Given the description of an element on the screen output the (x, y) to click on. 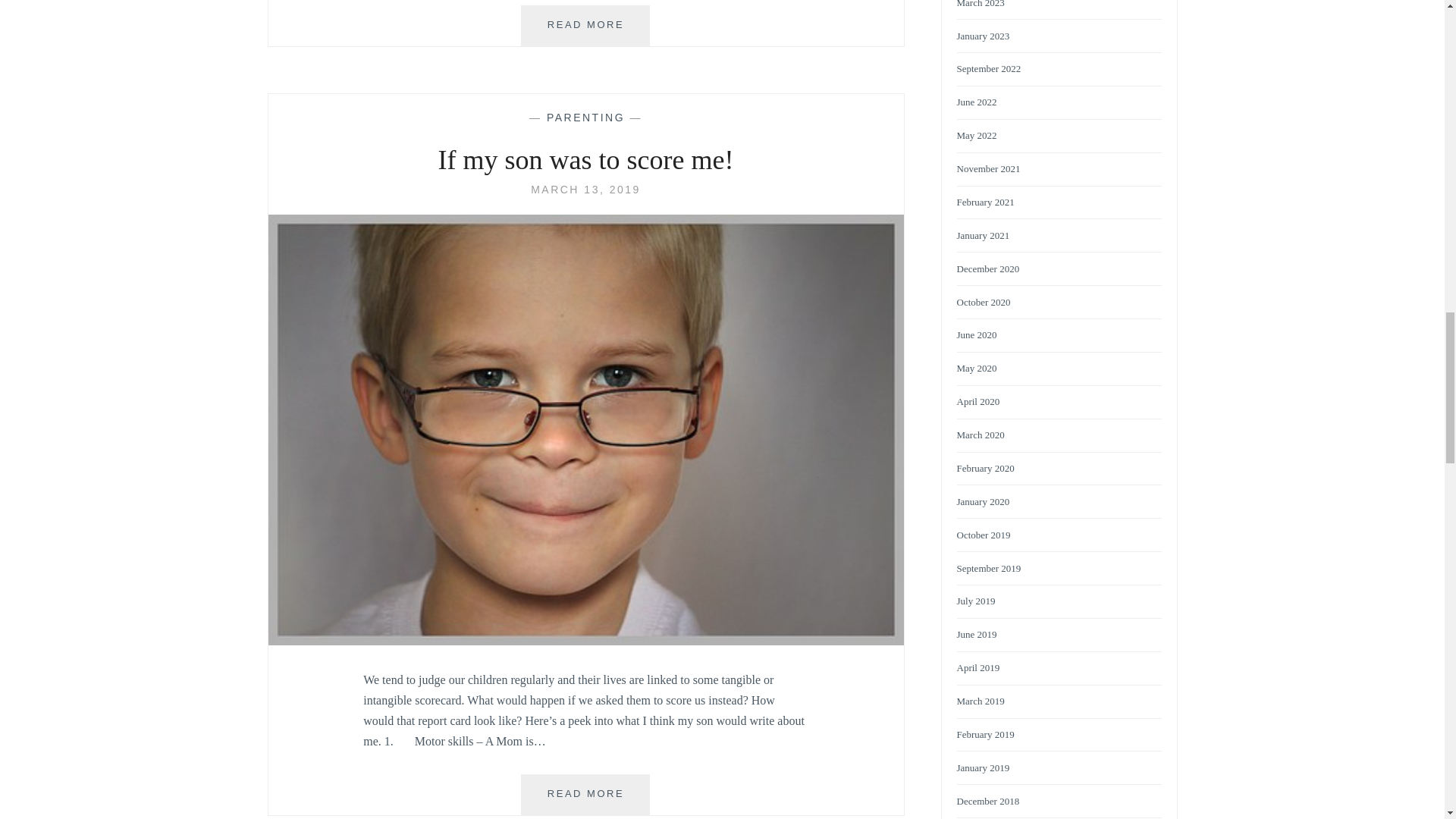
MARCH 13, 2019 (585, 189)
If my son was to score me! (585, 189)
If my son was to score me! (585, 640)
PARENTING (585, 793)
If my son was to score me! (585, 117)
